Given the description of an element on the screen output the (x, y) to click on. 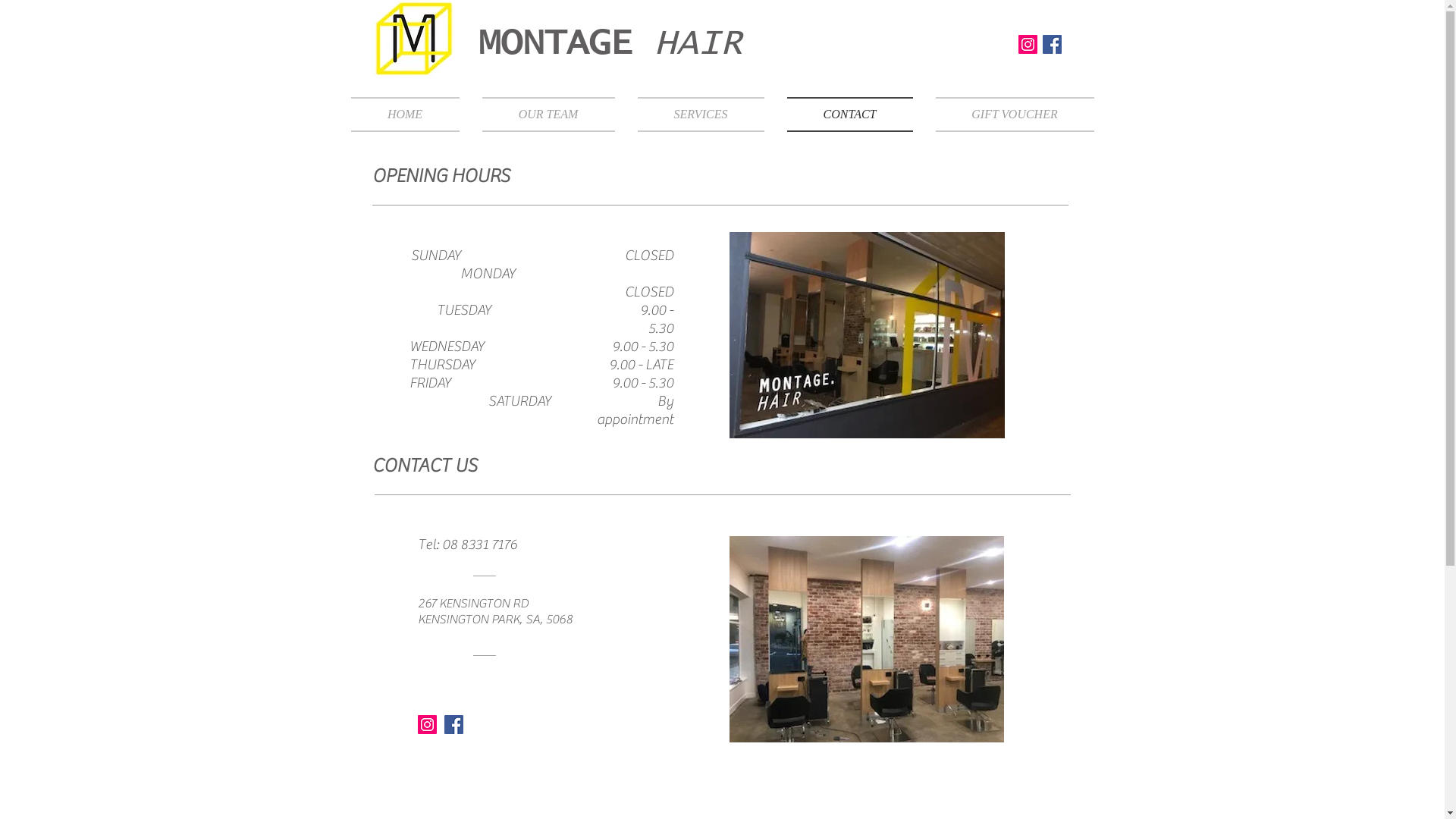
    Element type: text (466, 46)
MONTAGE HAIR Element type: text (609, 43)
web12.jpg Element type: hover (866, 639)
OUR TEAM Element type: text (547, 114)
CONTACT Element type: text (849, 114)
SERVICES Element type: text (700, 114)
GIFT VOUCHER Element type: text (1008, 114)
HOME Element type: text (410, 114)
